Given the description of an element on the screen output the (x, y) to click on. 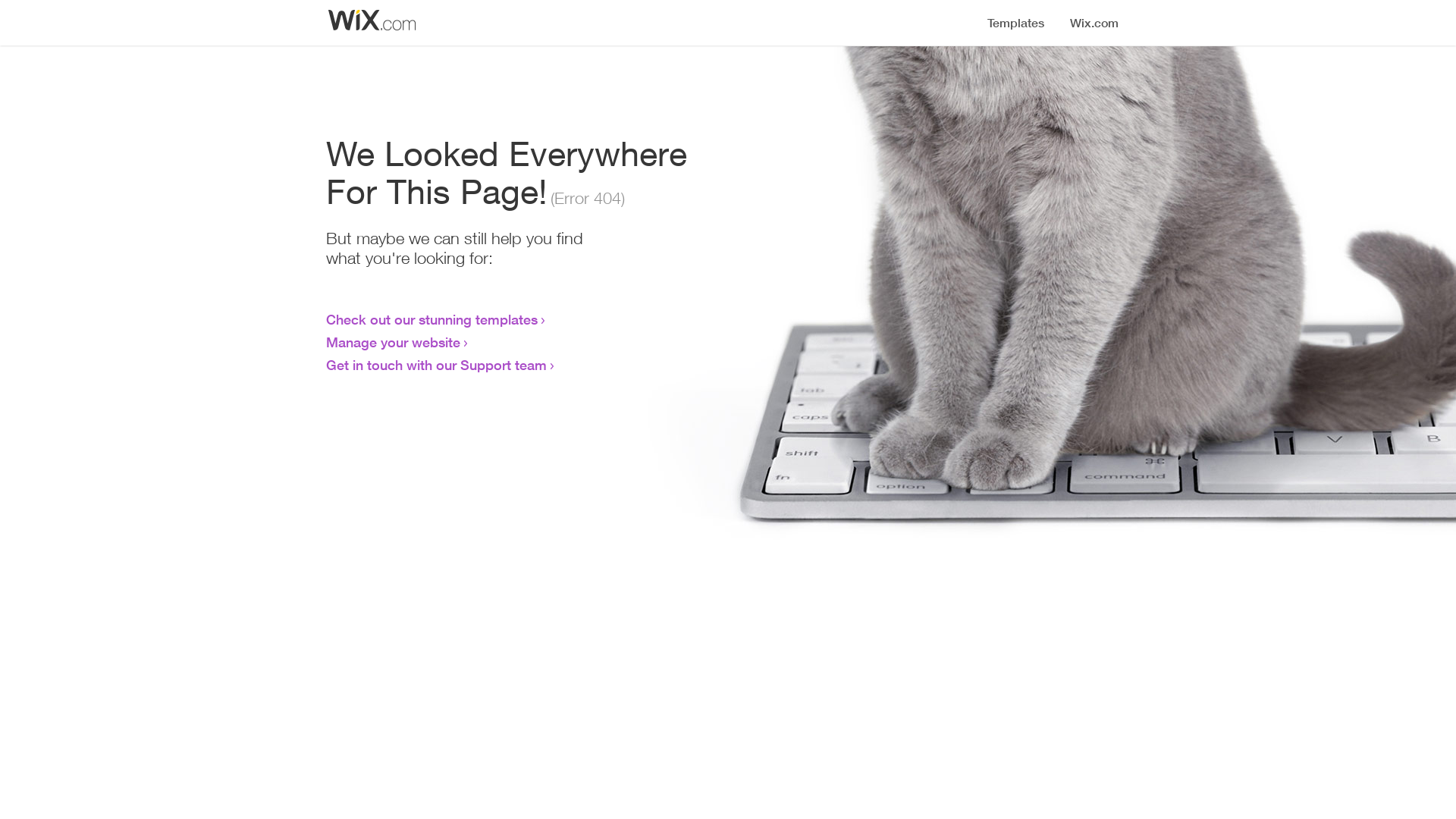
Get in touch with our Support team Element type: text (436, 364)
Check out our stunning templates Element type: text (431, 318)
Manage your website Element type: text (393, 341)
